Given the description of an element on the screen output the (x, y) to click on. 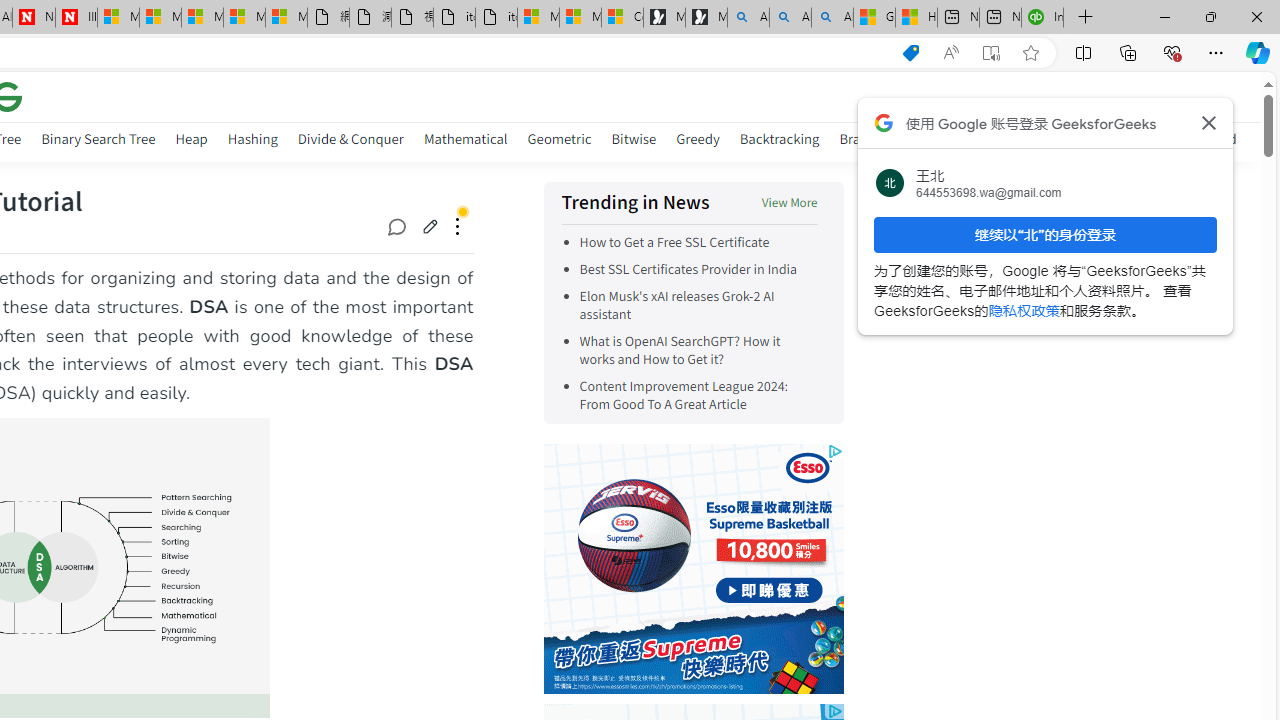
Branch and Bound (895, 138)
Backtracking (779, 142)
Consumer Health Data Privacy Policy (621, 17)
Bitwise (633, 138)
Binary Search Tree (98, 138)
Branch and Bound (895, 142)
